Given the description of an element on the screen output the (x, y) to click on. 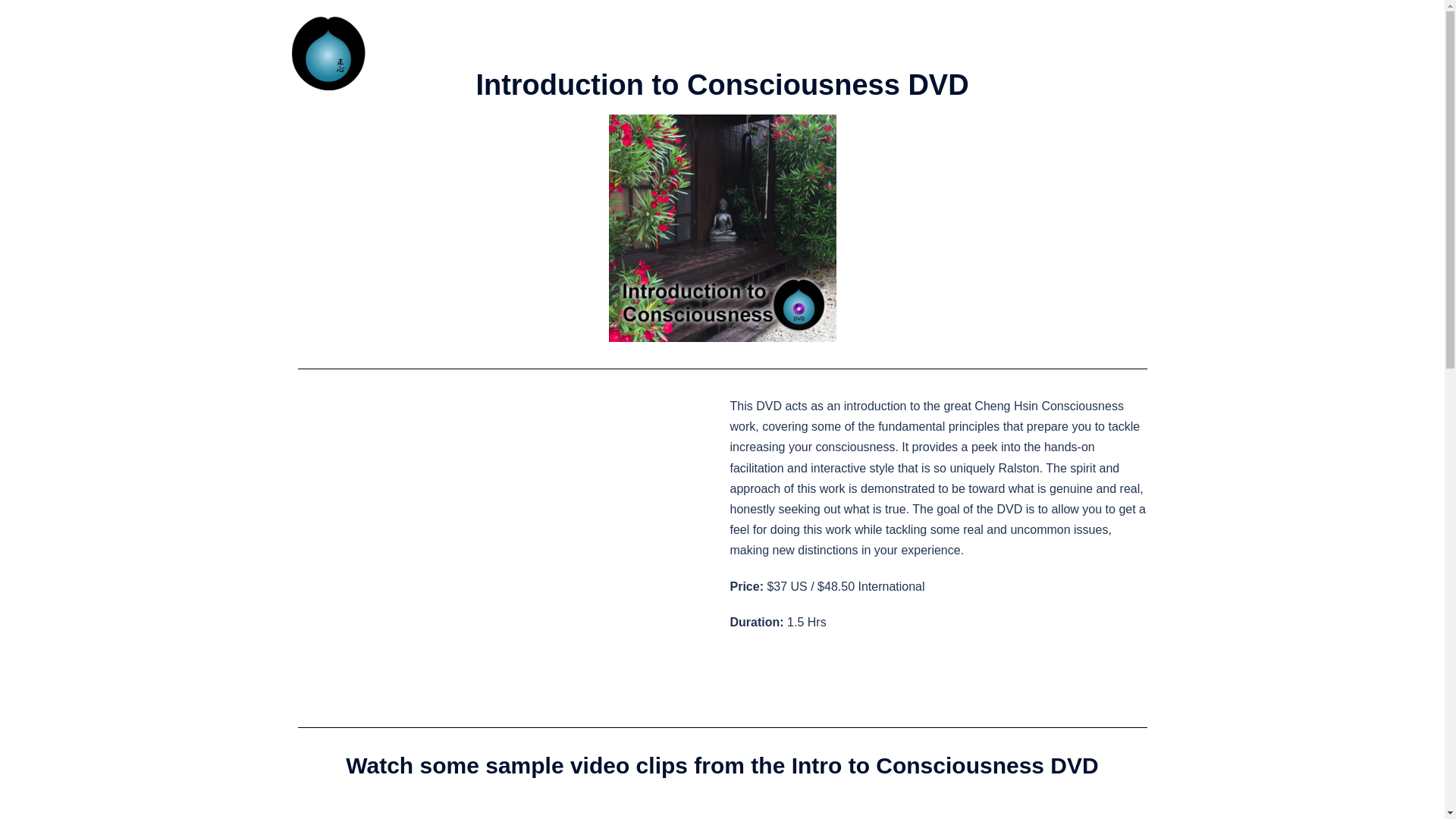
Home (609, 44)
Start shopping (616, 62)
Workshops (721, 44)
Cheng Hsin (327, 51)
About (660, 44)
